Given the description of an element on the screen output the (x, y) to click on. 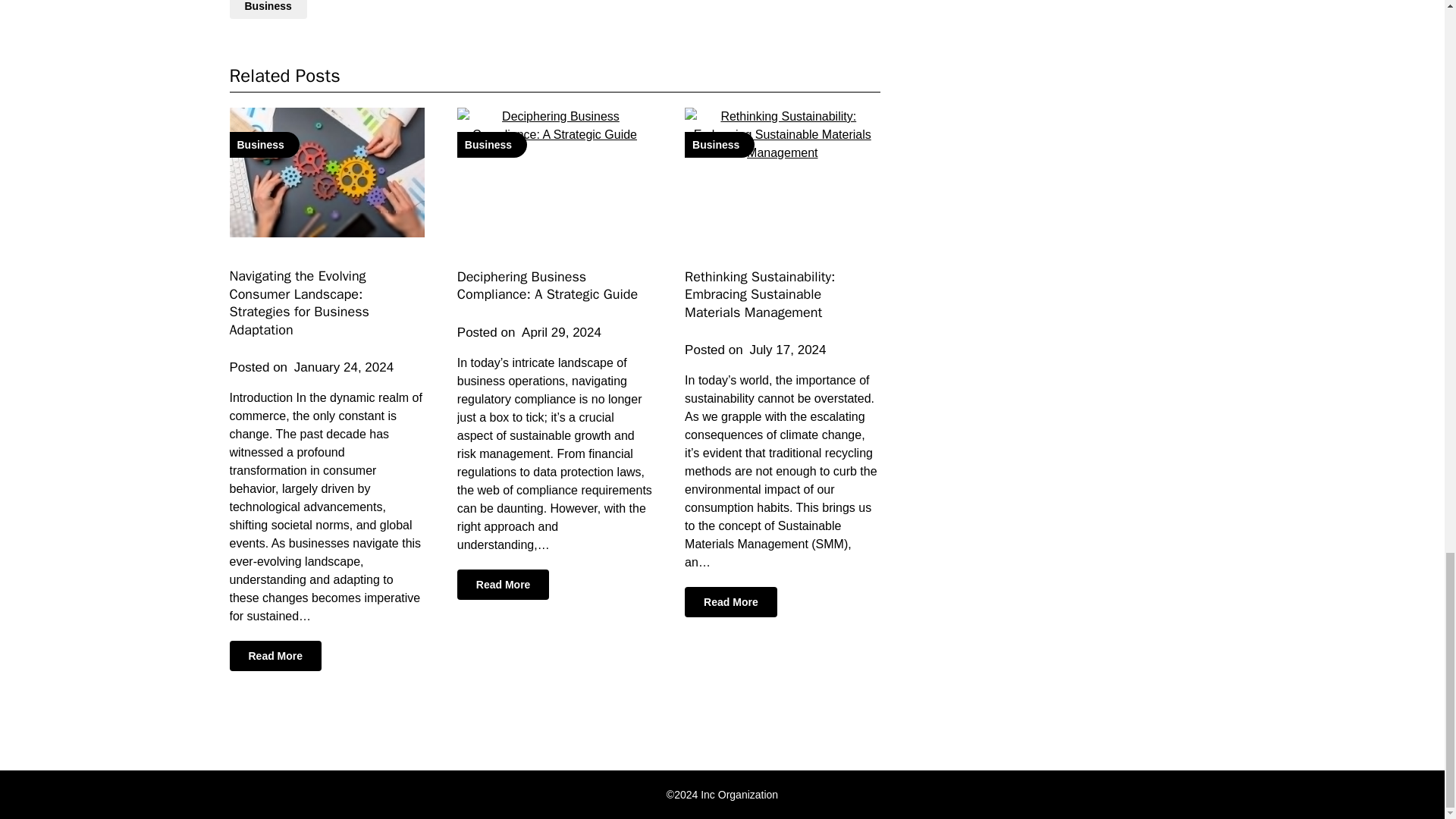
January 24, 2024 (343, 367)
Business (781, 172)
Read More (503, 584)
Deciphering Business Compliance: A Strategic Guide (547, 285)
Business (554, 172)
Read More (274, 655)
April 29, 2024 (561, 332)
Read More (730, 602)
Business (325, 172)
July 17, 2024 (787, 350)
Business (266, 9)
